Given the description of an element on the screen output the (x, y) to click on. 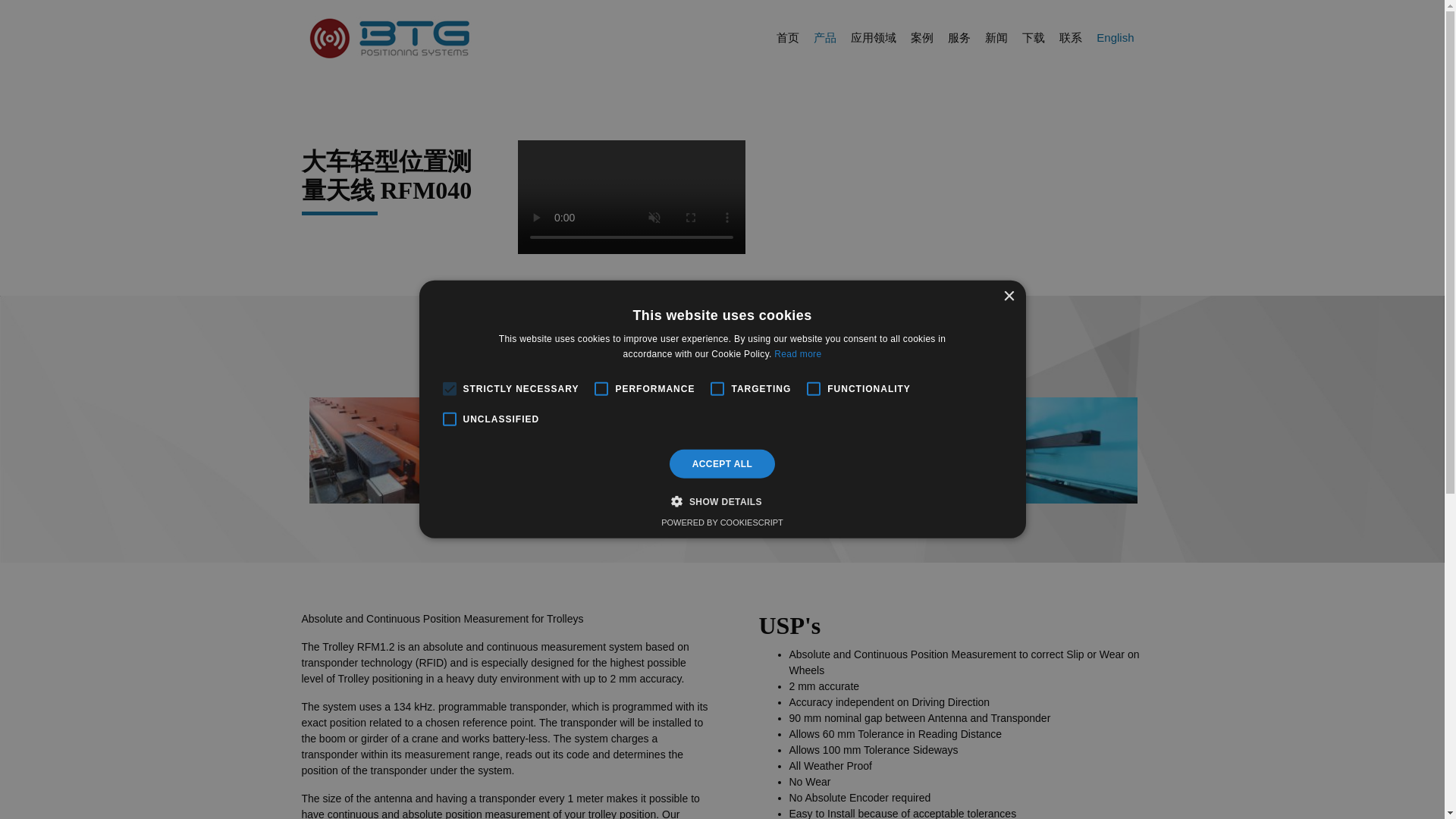
2 (721, 514)
BTG (392, 37)
1 (698, 514)
3 (744, 514)
English (1115, 38)
English (1115, 38)
